Given the description of an element on the screen output the (x, y) to click on. 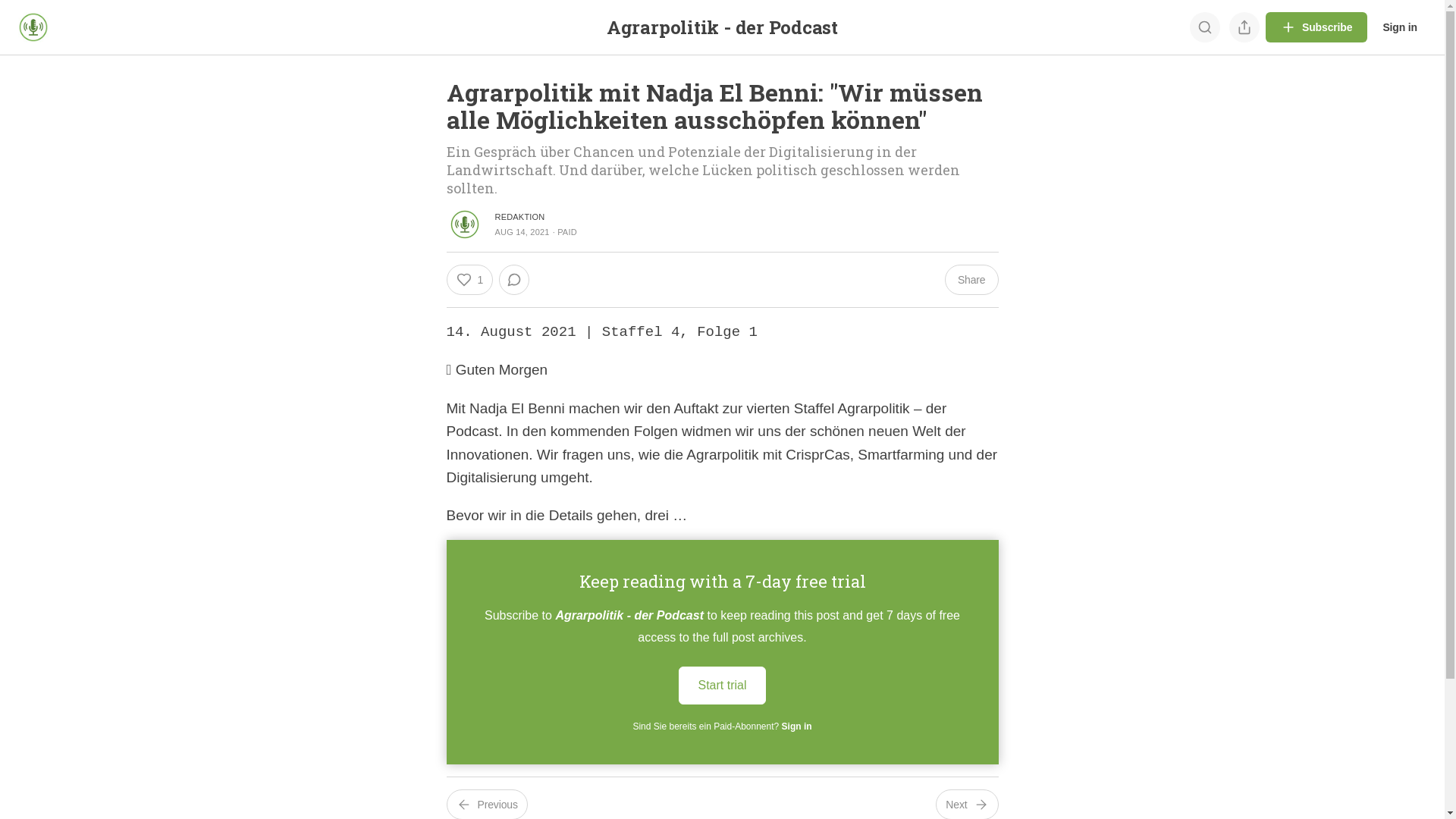
Subscribe Element type: text (1316, 27)
Start trial Element type: text (721, 685)
Share Element type: text (971, 279)
Sind Sie bereits ein Paid-Abonnent? Sign in Element type: text (721, 726)
1 Element type: text (468, 279)
REDAKTION Element type: text (519, 216)
Sign in Element type: text (1399, 27)
Start trial Element type: text (721, 684)
Agrarpolitik - der Podcast Element type: text (721, 27)
